Given the description of an element on the screen output the (x, y) to click on. 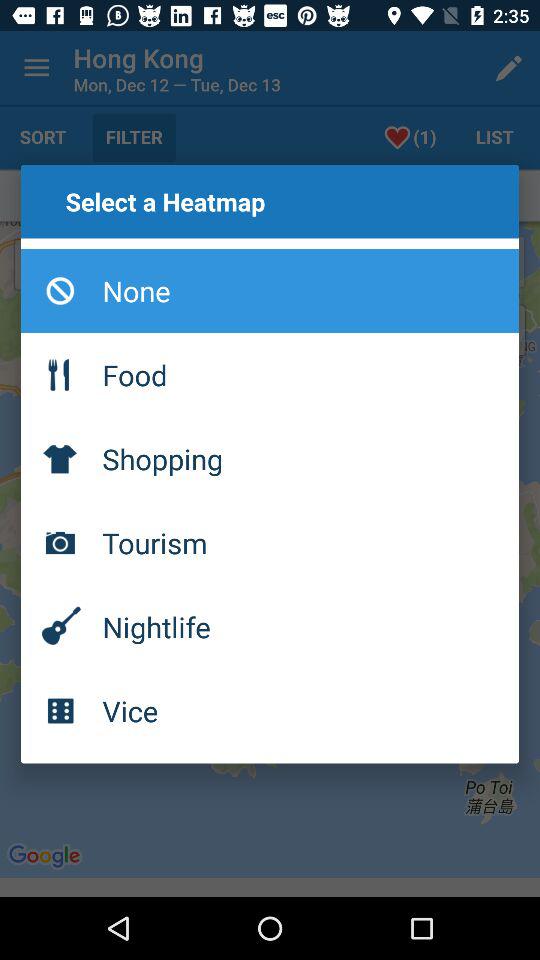
scroll until tourism (270, 543)
